Given the description of an element on the screen output the (x, y) to click on. 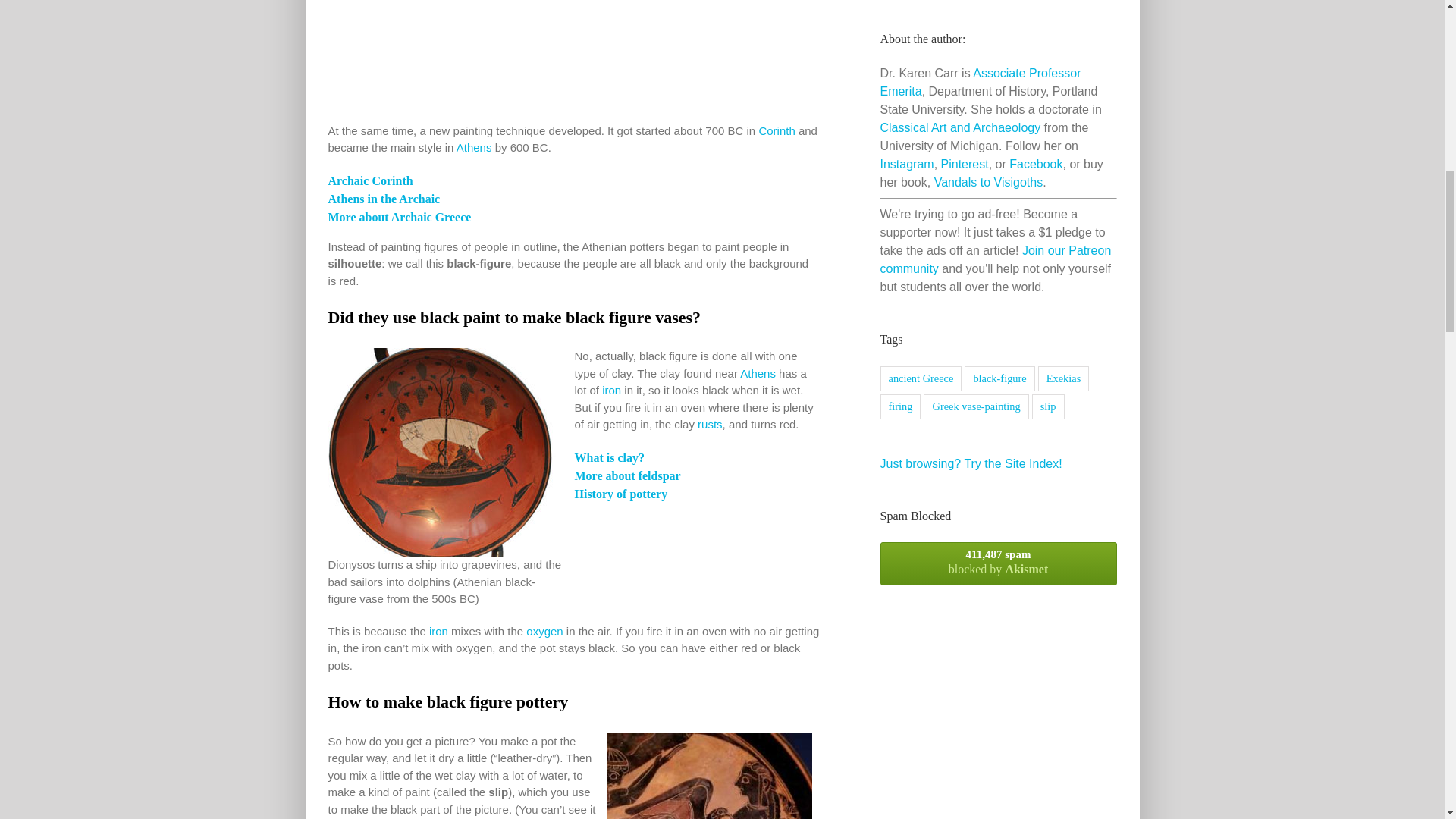
Advertisement (572, 61)
